Given the description of an element on the screen output the (x, y) to click on. 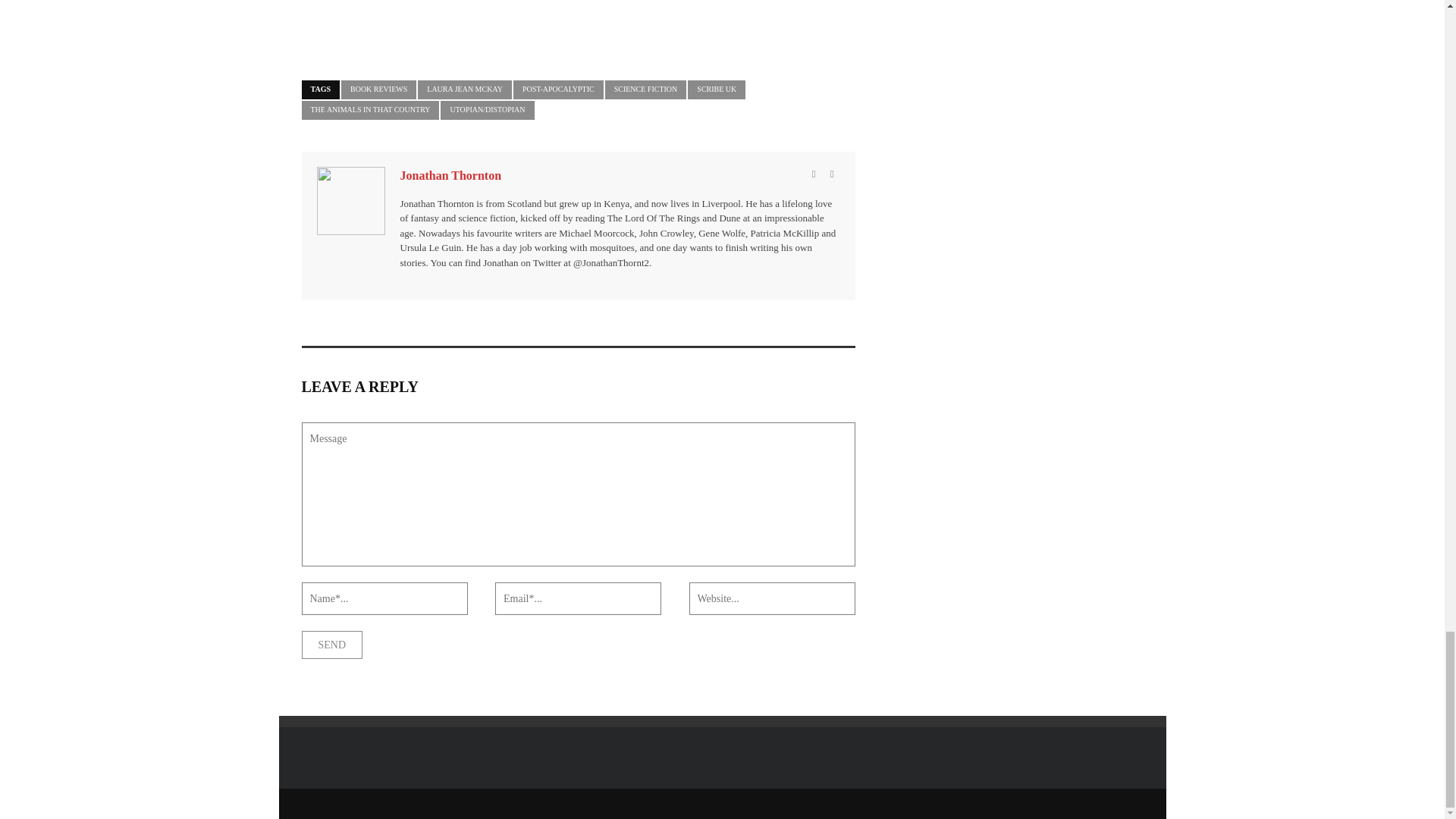
View all posts tagged Laura Jean McKay (464, 89)
View all posts tagged Post-Apocalyptic (558, 89)
View all posts tagged The Animals in that Country (370, 109)
Send (331, 644)
View all posts tagged Scribe UK (716, 89)
View all posts tagged Science Fiction (646, 89)
View all posts tagged Book Reviews (378, 89)
